Given the description of an element on the screen output the (x, y) to click on. 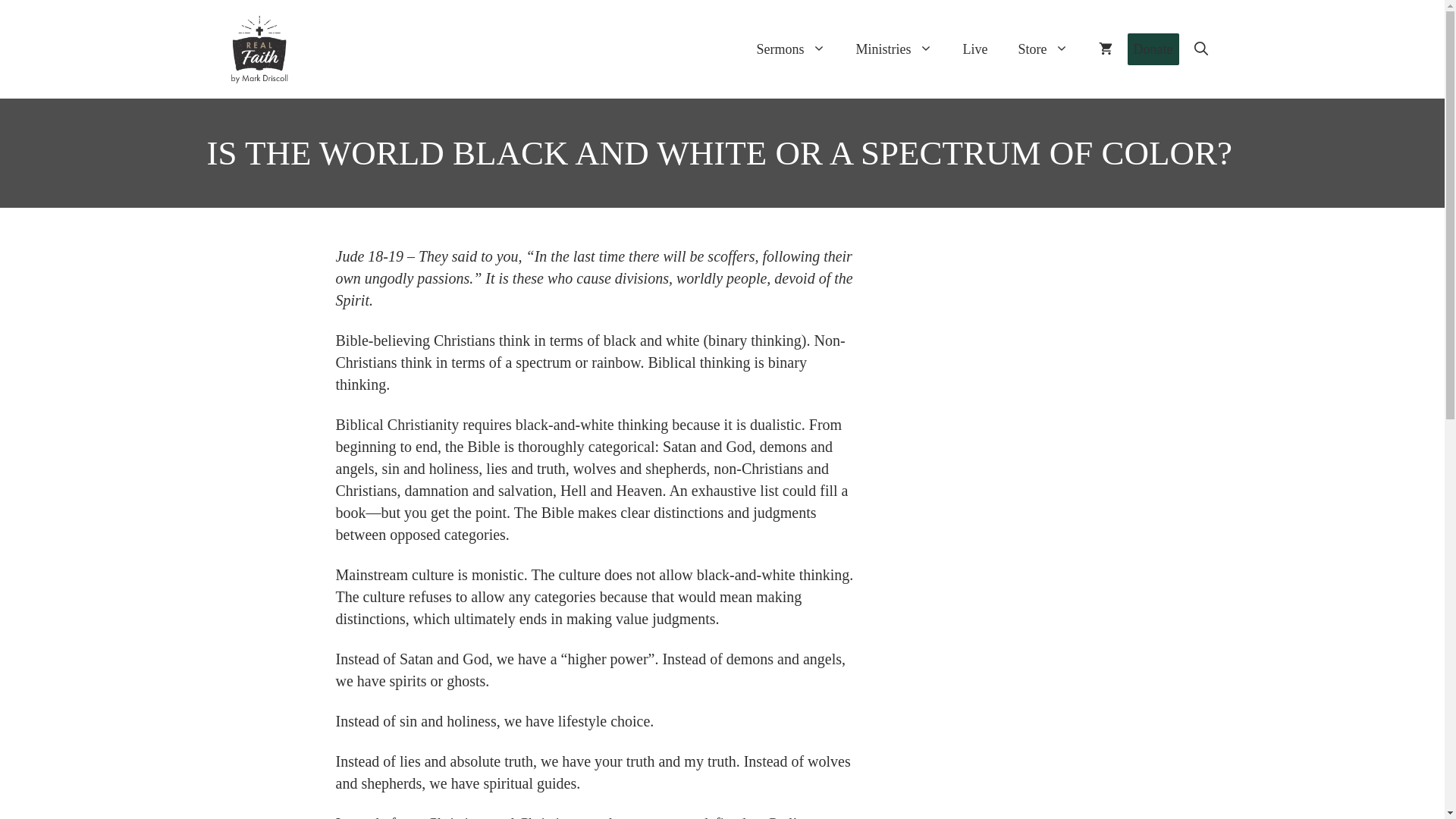
Live (975, 49)
Sermons (791, 49)
Store (1043, 49)
Donate (1152, 49)
View your shopping cart (1104, 49)
Ministries (893, 49)
